Given the description of an element on the screen output the (x, y) to click on. 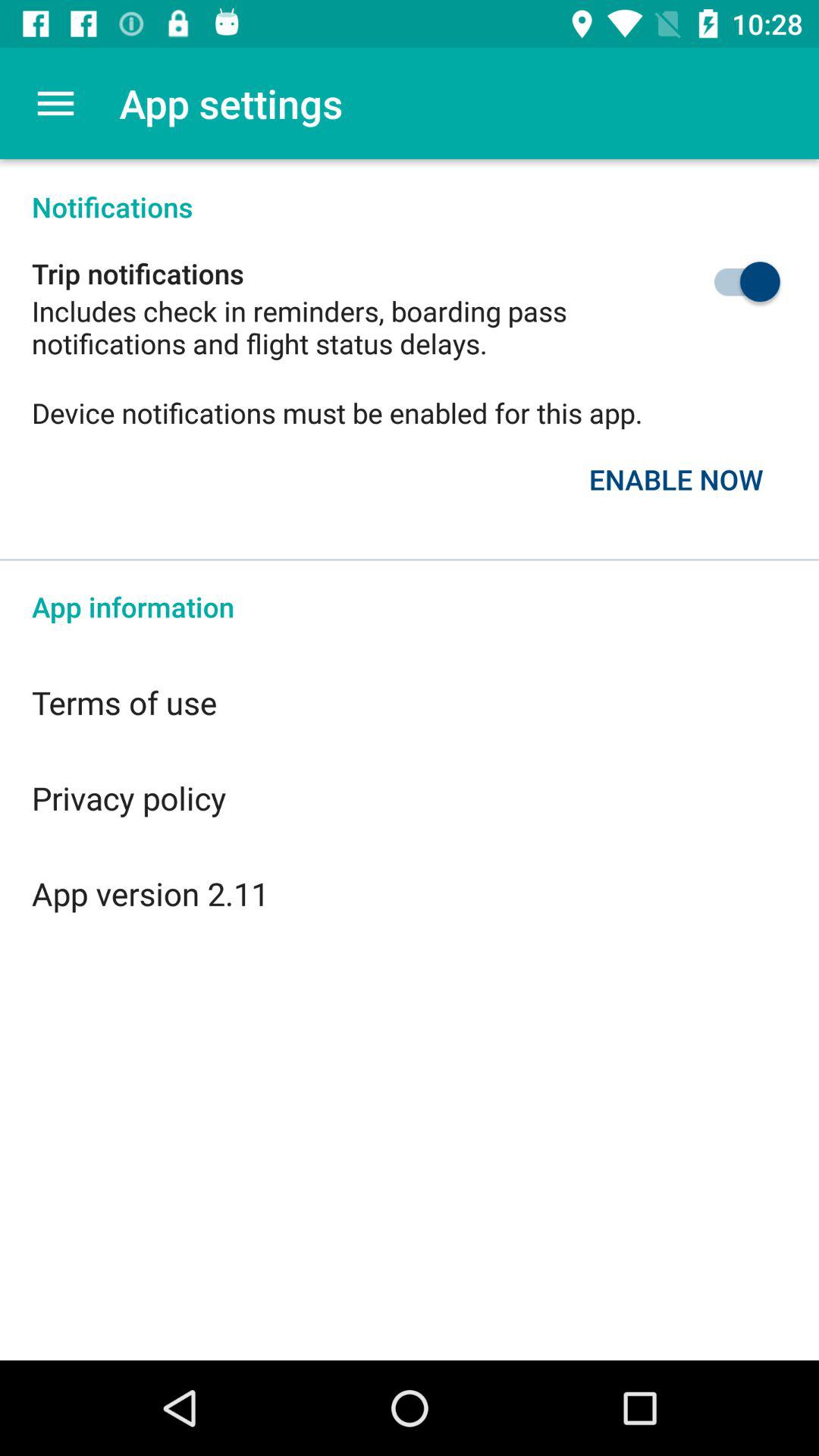
flip until the enable now item (676, 479)
